Given the description of an element on the screen output the (x, y) to click on. 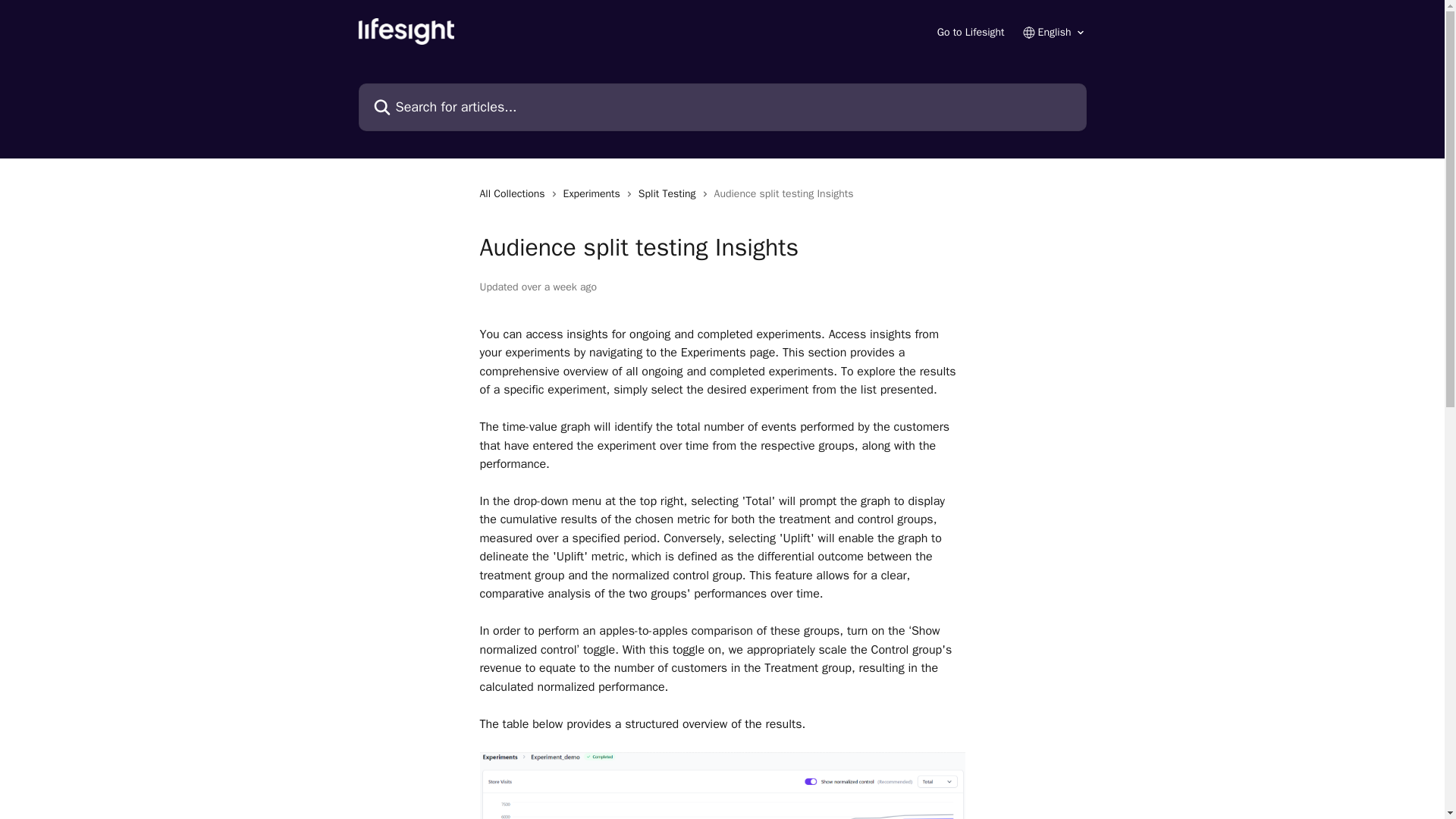
Go to Lifesight (970, 32)
Experiments (594, 193)
Split Testing (670, 193)
All Collections (514, 193)
